Given the description of an element on the screen output the (x, y) to click on. 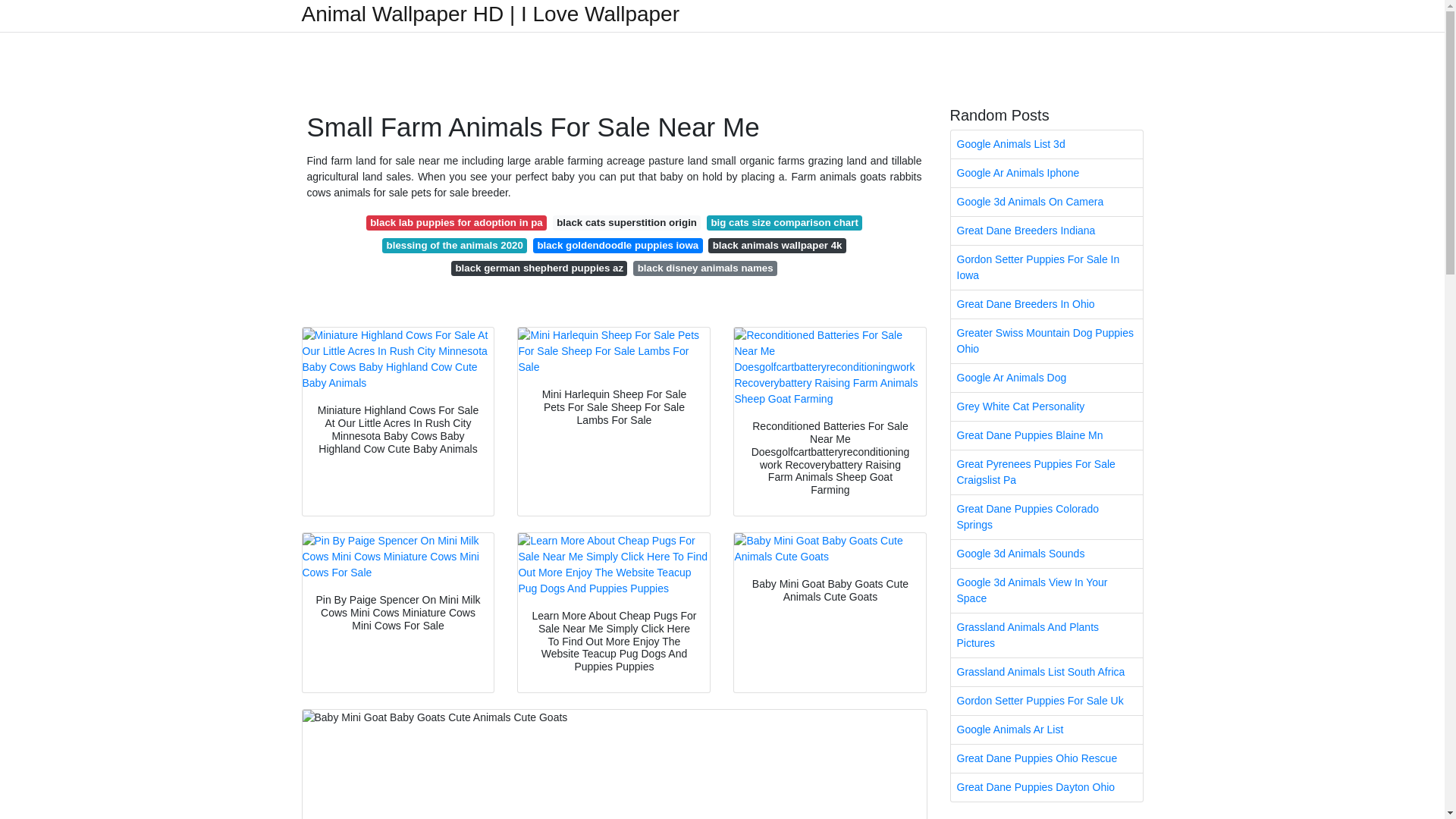
Greater Swiss Mountain Dog Puppies Ohio (1046, 341)
black goldendoodle puppies iowa (616, 245)
black disney animals names (704, 268)
Great Dane Breeders In Ohio (1046, 304)
Google Ar Animals Iphone (1046, 172)
Great Dane Puppies Blaine Mn (1046, 435)
black animals wallpaper 4k (776, 245)
big cats size comparison chart (783, 222)
Grey White Cat Personality (1046, 406)
Google 3d Animals On Camera (1046, 202)
